Given the description of an element on the screen output the (x, y) to click on. 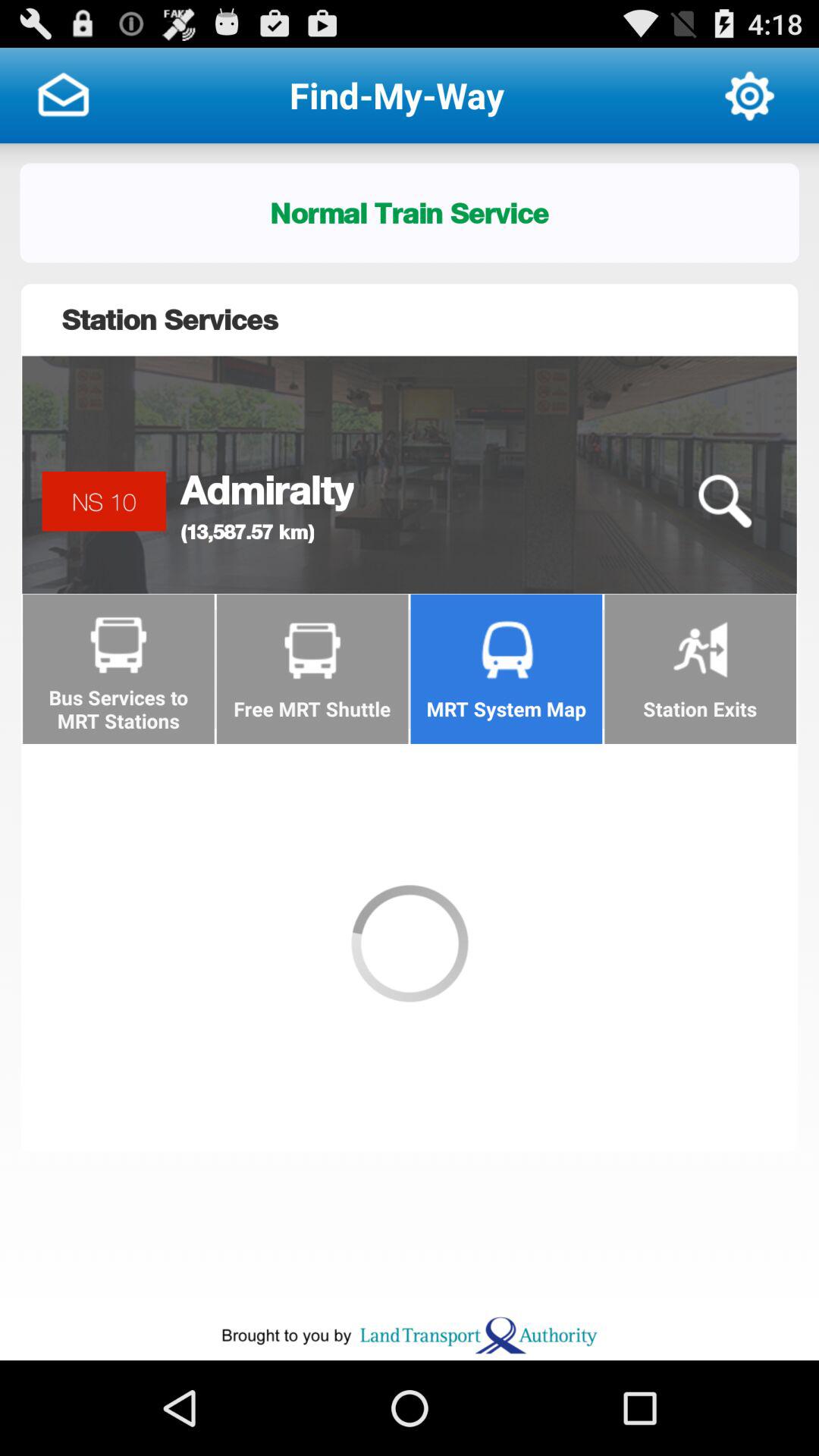
click on the message option (62, 95)
